Given the description of an element on the screen output the (x, y) to click on. 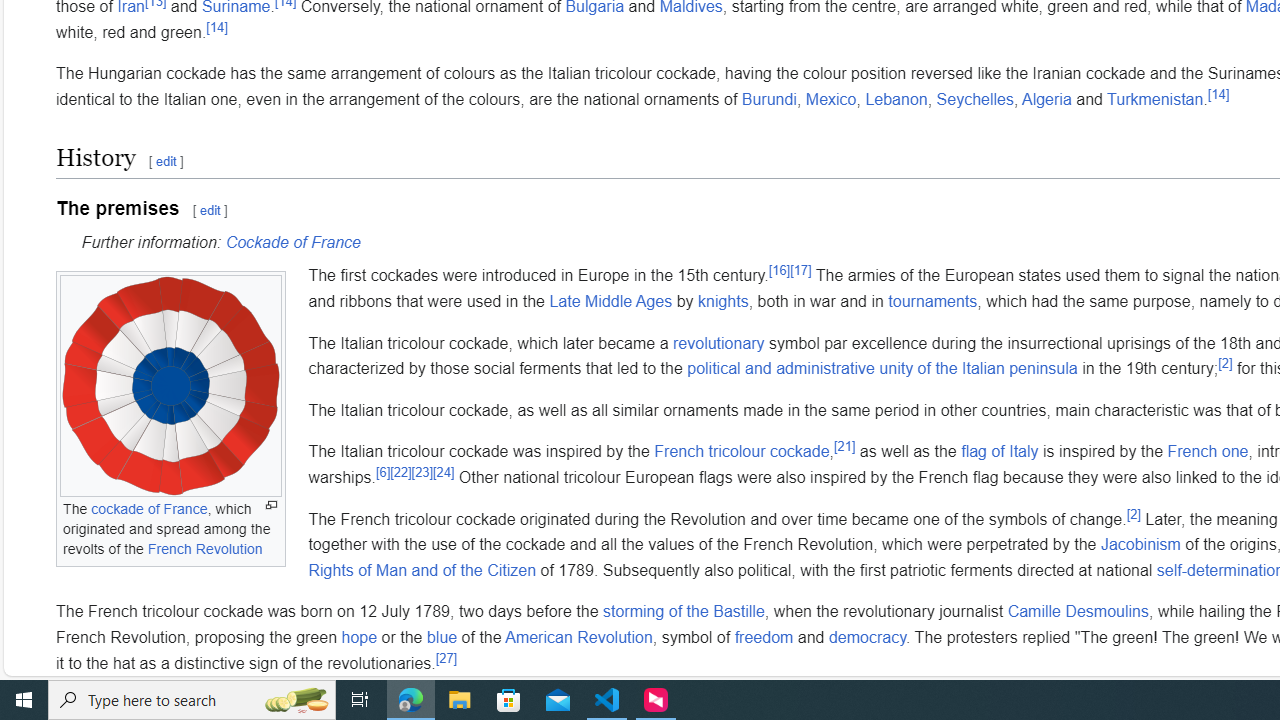
Turkmenistan (1155, 99)
American Revolution (578, 636)
[17] (800, 270)
Class: mw-file-element (170, 386)
French one (1208, 451)
[22] (401, 471)
Algeria (1046, 99)
hope (358, 636)
blue (442, 636)
Late Middle Ages (611, 301)
Camille Desmoulins (1078, 611)
knights (722, 301)
democracy (867, 636)
edit (209, 210)
[21] (844, 447)
